Given the description of an element on the screen output the (x, y) to click on. 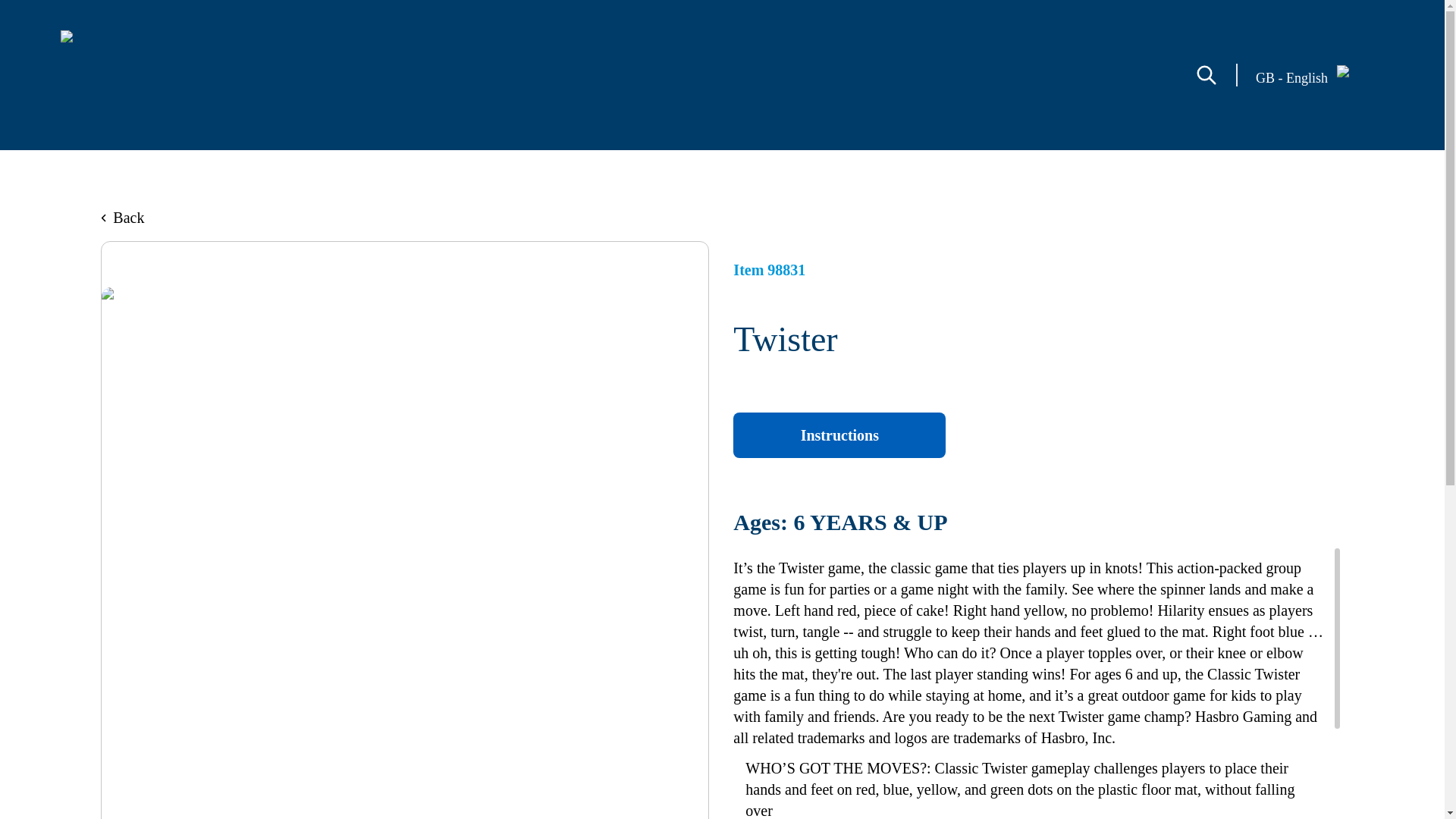
GB - English (1319, 74)
Instructions (838, 434)
